Given the description of an element on the screen output the (x, y) to click on. 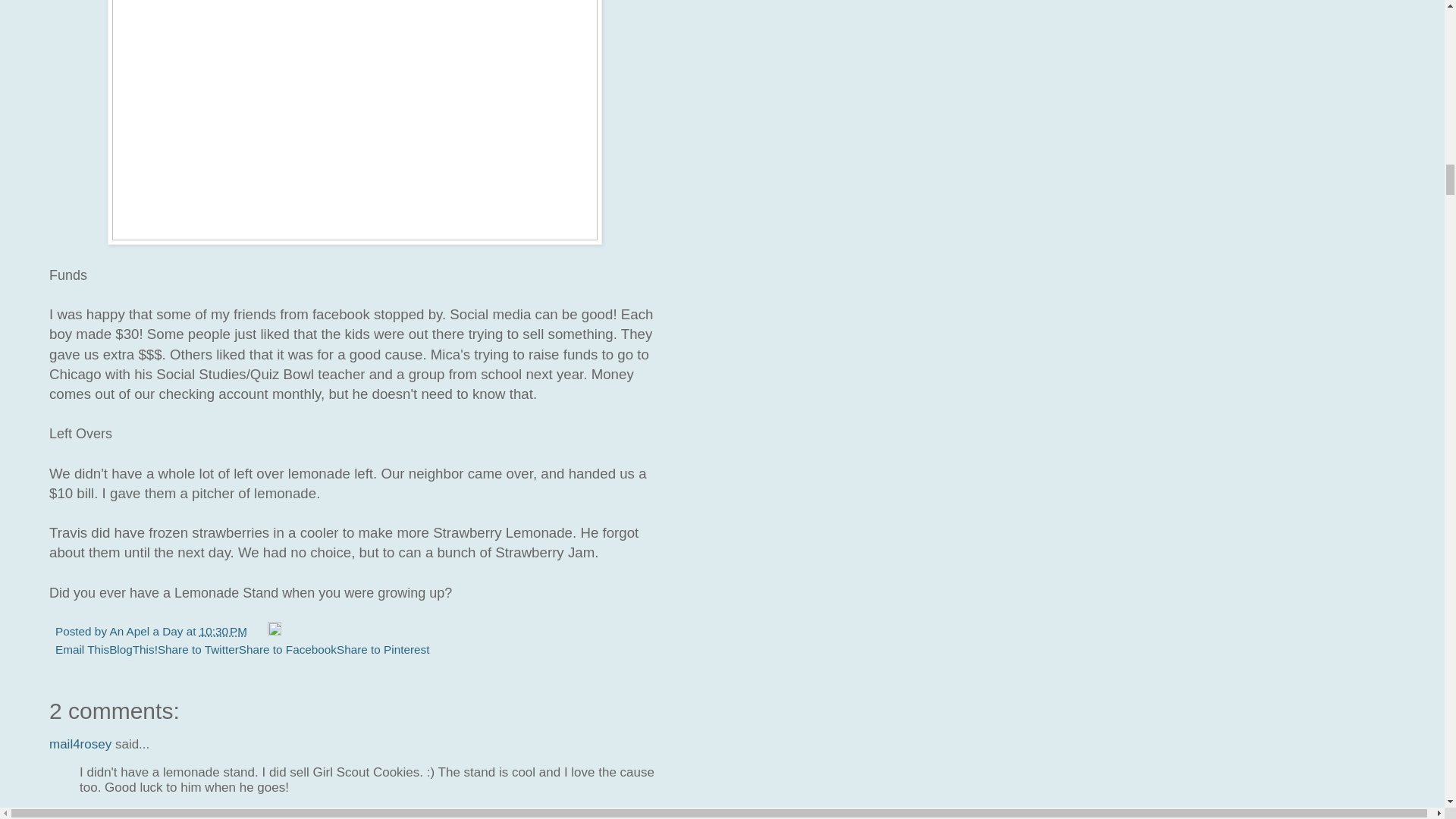
An Apel a Day (147, 631)
Share to Pinterest (382, 649)
author profile (147, 631)
Share to Twitter (197, 649)
Edit Post (274, 631)
Share to Pinterest (382, 649)
Share to Facebook (287, 649)
comment permalink (160, 814)
Email Post (258, 631)
Email This (82, 649)
Share to Facebook (287, 649)
permanent link (223, 631)
Delete Comment (245, 814)
Share to Twitter (197, 649)
